Given the description of an element on the screen output the (x, y) to click on. 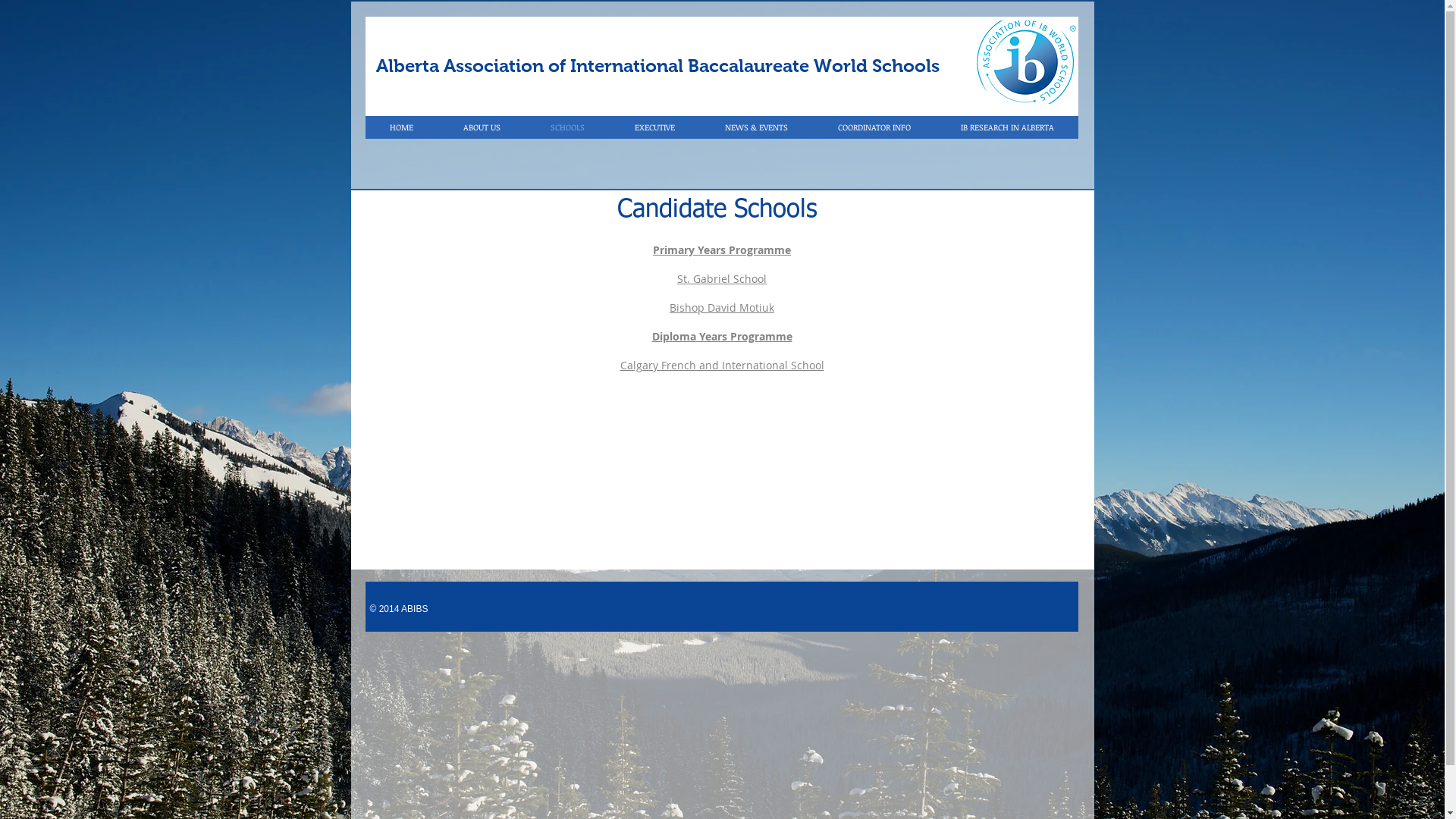
EXECUTIVE Element type: text (654, 127)
Bishop David Motiuk Element type: text (721, 307)
COORDINATOR INFO Element type: text (873, 127)
IB RESEARCH IN ALBERTA Element type: text (1006, 127)
HOME Element type: text (401, 127)
SCHOOLS Element type: text (566, 127)
St. Gabriel School Element type: text (721, 278)
Diploma Years Programme Element type: text (722, 336)
ABOUT US Element type: text (481, 127)
Calgary French and International School Element type: text (722, 364)
NEWS & EVENTS Element type: text (755, 127)
